Given the description of an element on the screen output the (x, y) to click on. 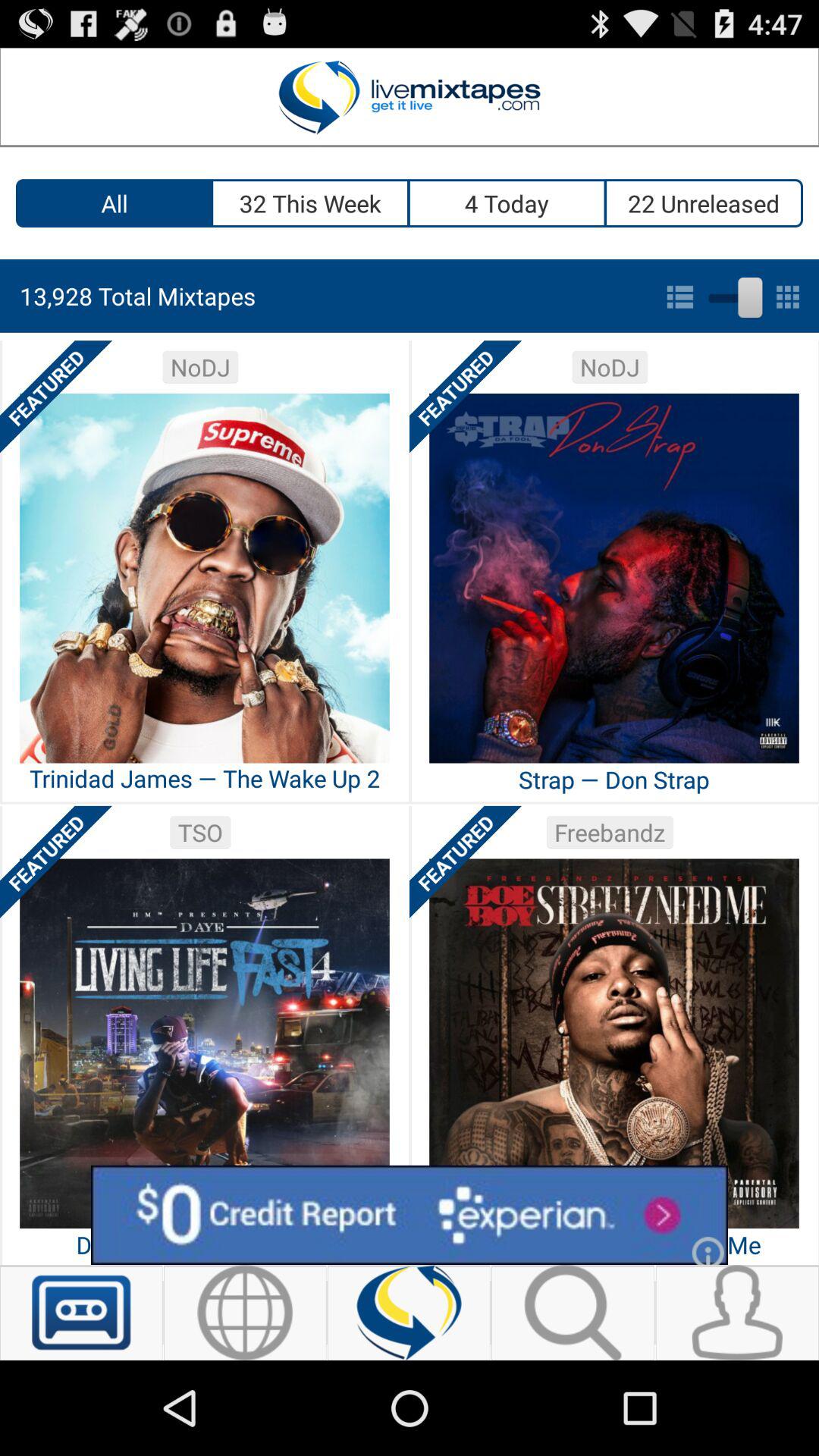
select item next to the 32 this week (507, 203)
